Given the description of an element on the screen output the (x, y) to click on. 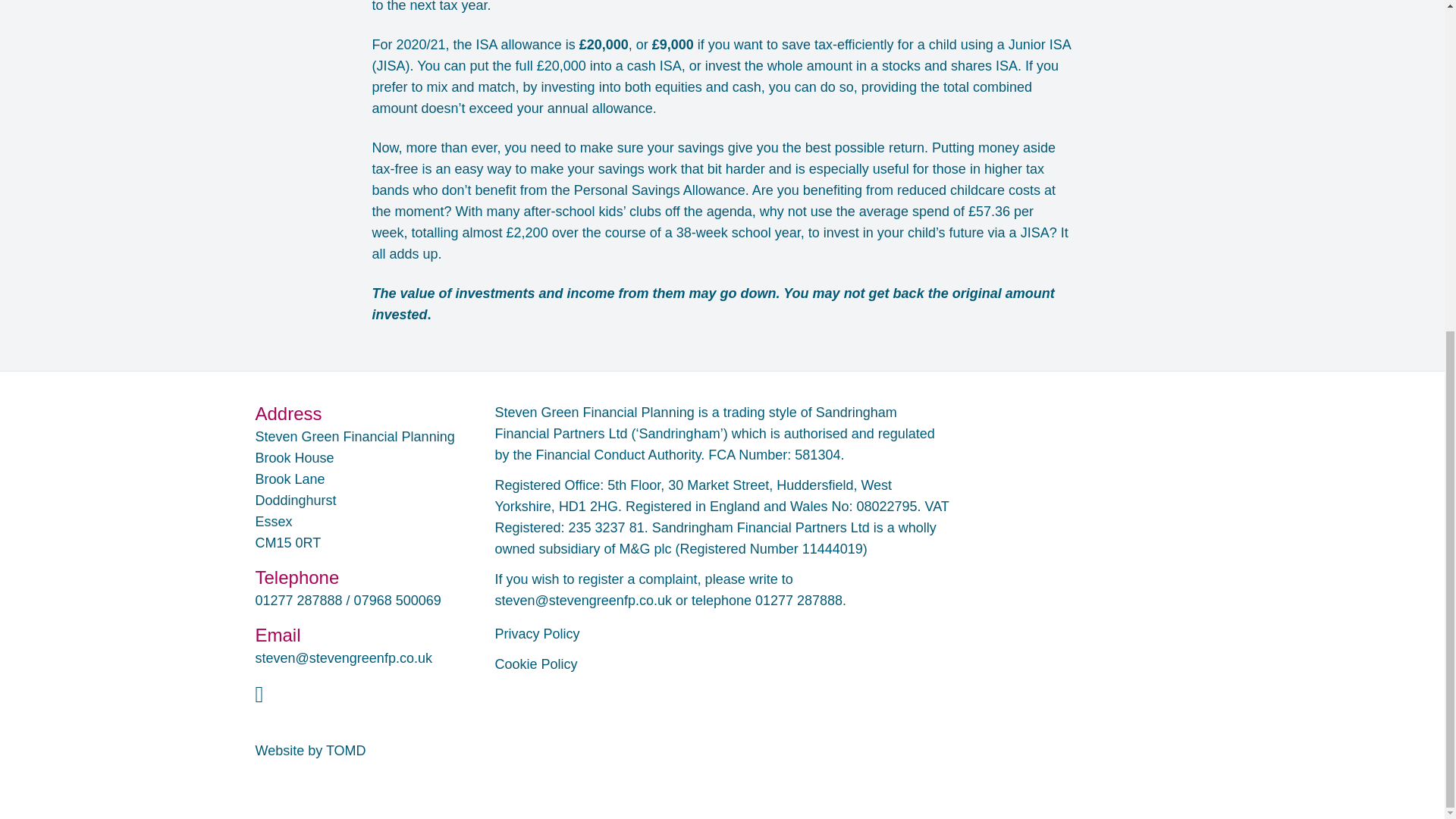
Cookie Policy (535, 663)
Privacy Policy (537, 633)
TOMD (346, 750)
